Given the description of an element on the screen output the (x, y) to click on. 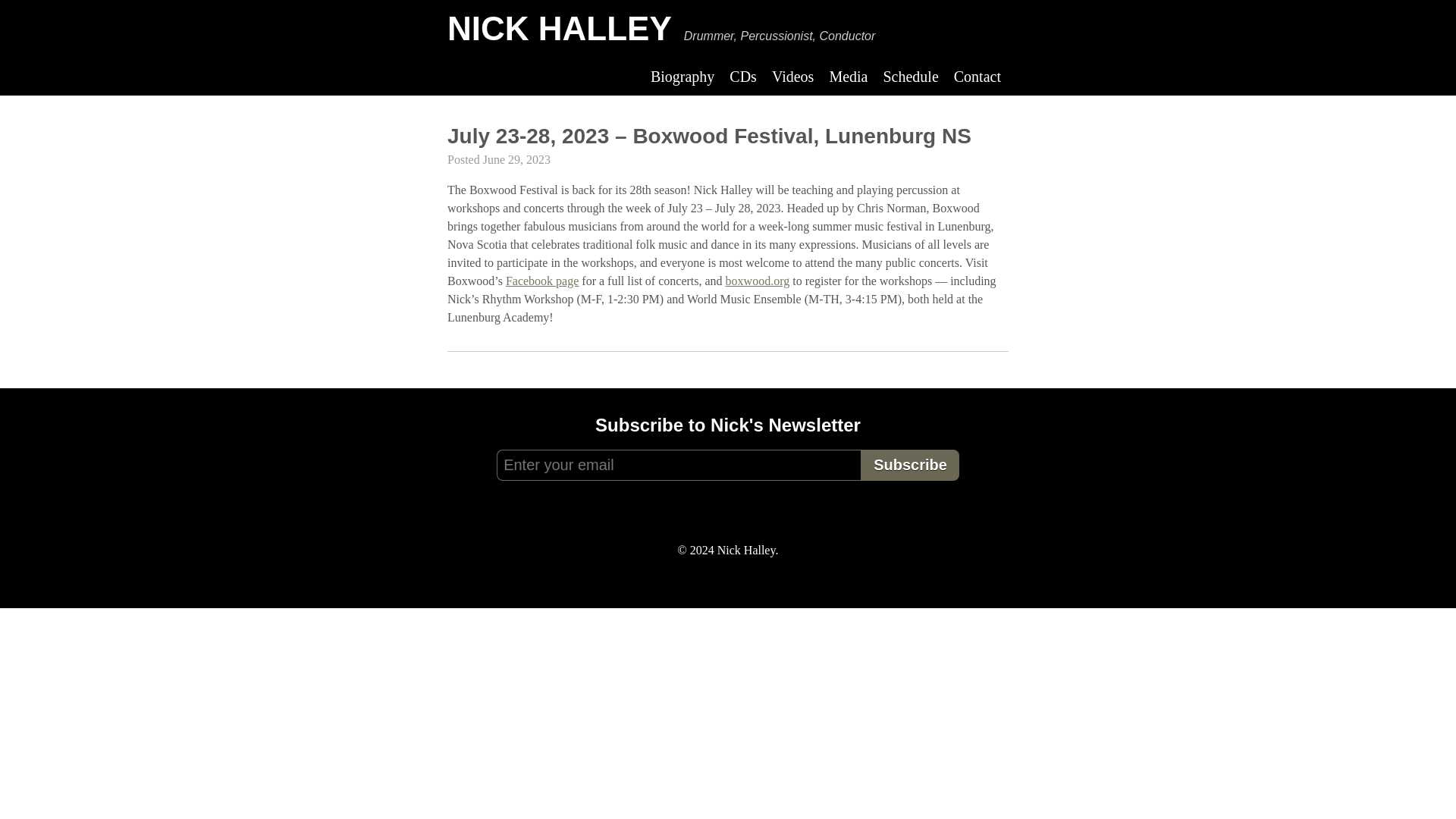
Biography (682, 76)
Contact (977, 76)
Videos (792, 76)
Subscribe (909, 464)
boxwood.org (757, 280)
NICK HALLEY (558, 27)
CDs (743, 76)
Media (848, 76)
Subscribe (909, 464)
Schedule (909, 76)
Facebook page (541, 280)
